Given the description of an element on the screen output the (x, y) to click on. 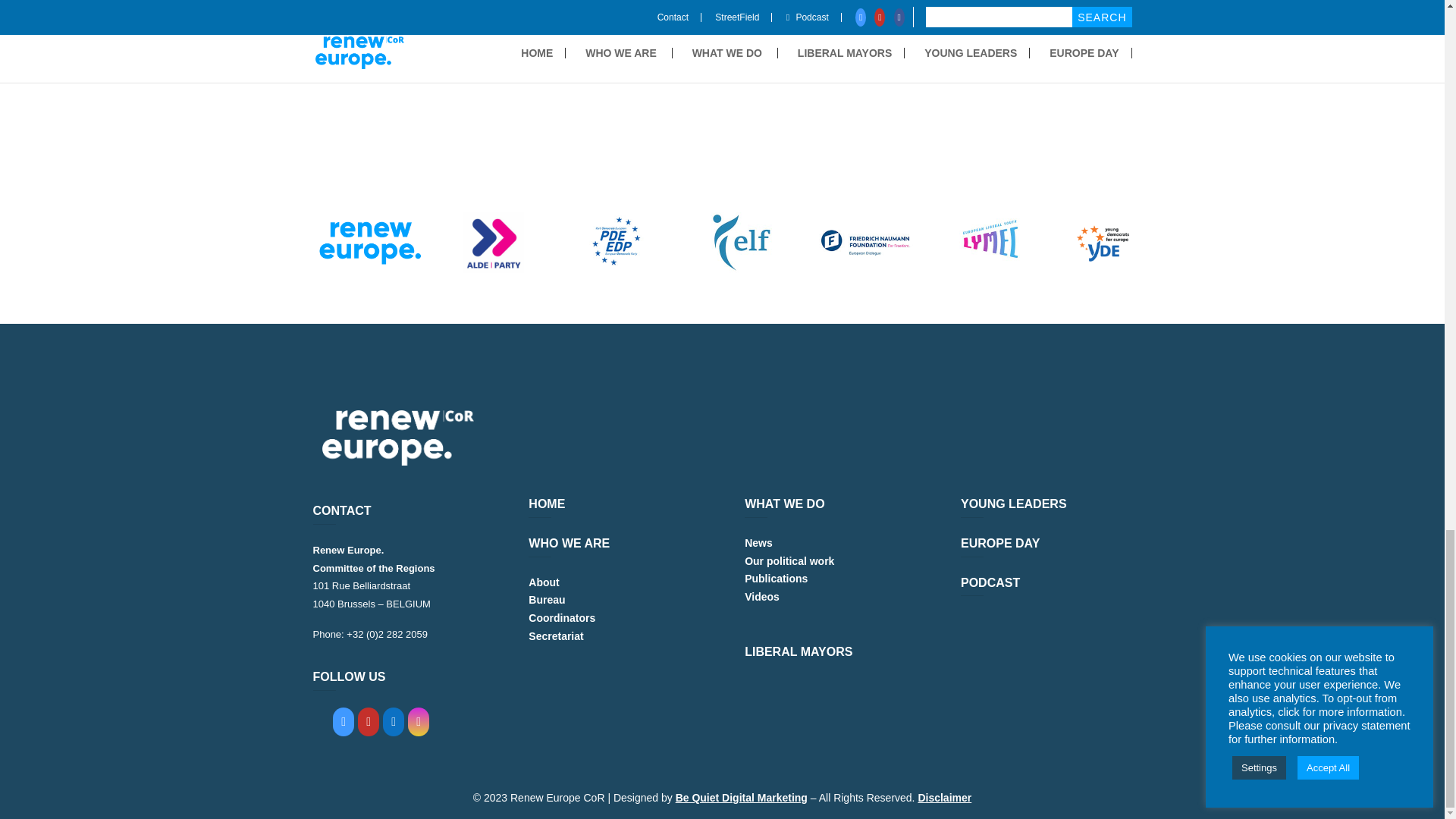
renew-europe-cor-logo-2023 (397, 438)
elf-logo (740, 242)
